Given the description of an element on the screen output the (x, y) to click on. 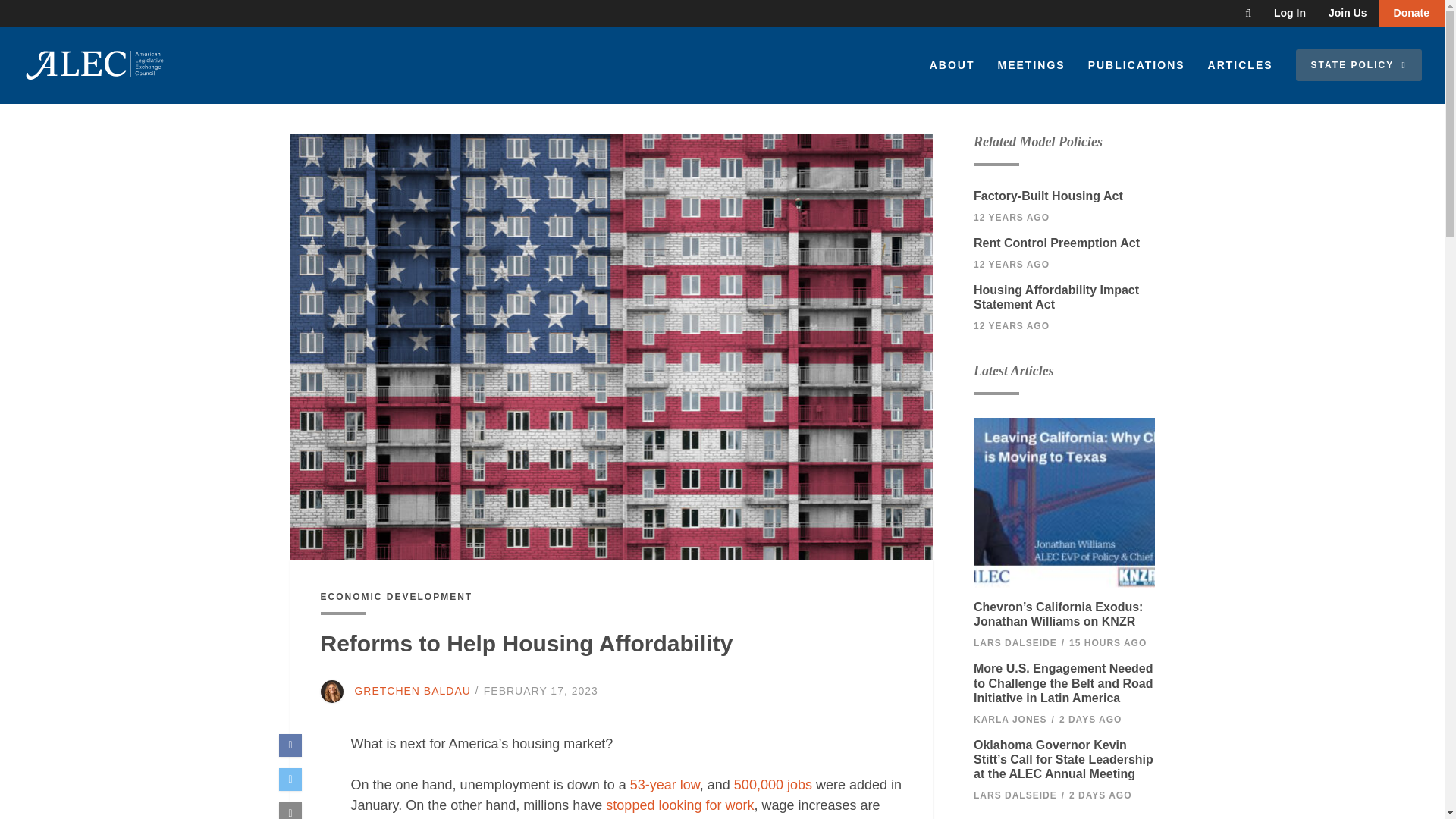
ABOUT (952, 64)
Join Us (1347, 13)
Log In (1289, 13)
PUBLICATIONS (1136, 64)
STATE POLICY  (1358, 65)
MEETINGS (1030, 64)
ARTICLES (1240, 64)
